Given the description of an element on the screen output the (x, y) to click on. 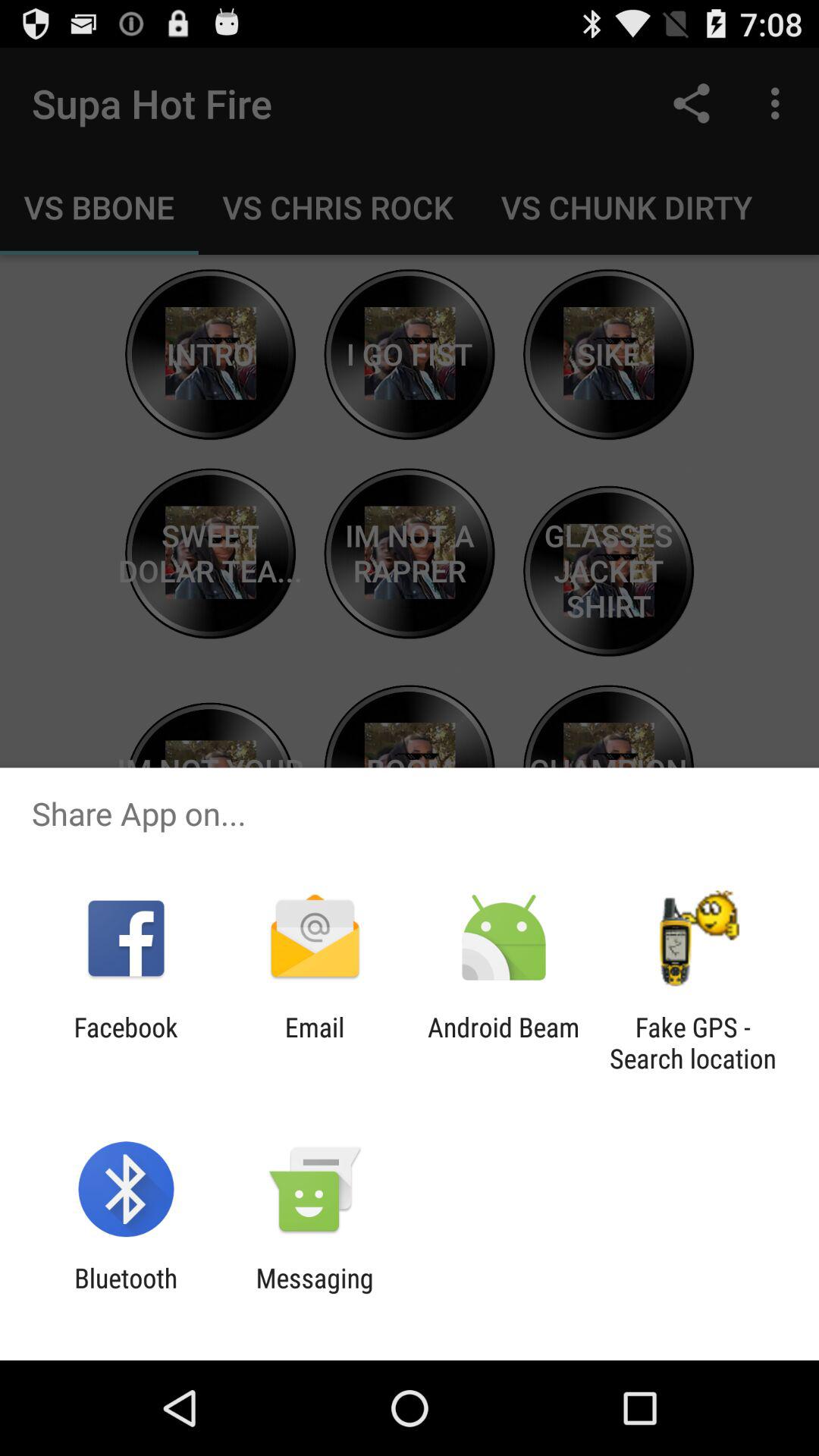
turn on icon to the left of fake gps search app (503, 1042)
